Given the description of an element on the screen output the (x, y) to click on. 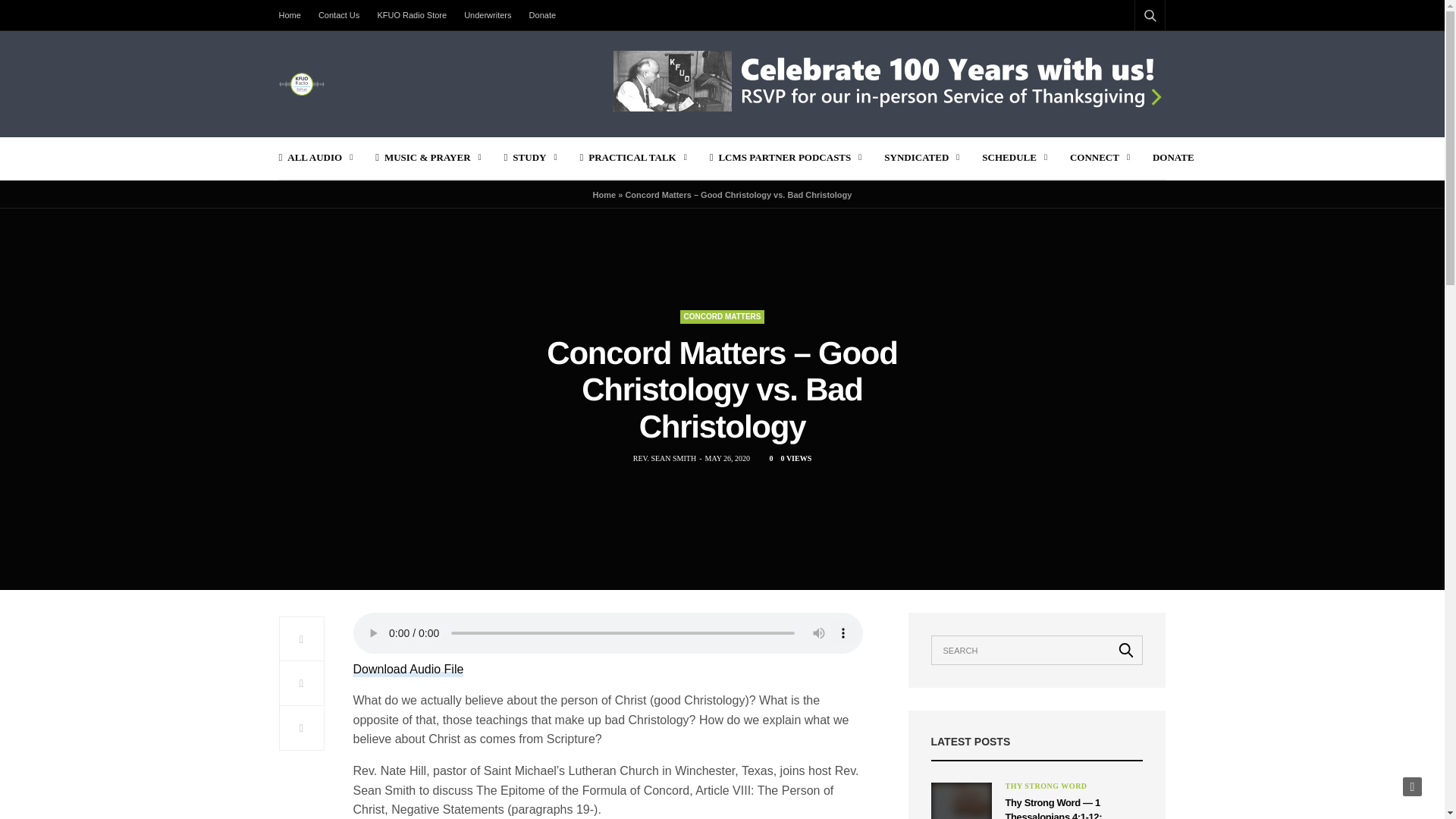
KFUO Radio Store (411, 15)
Search (1125, 649)
Home (293, 15)
Underwriters (487, 15)
Posts by Rev. Sean Smith (664, 458)
Contact Us (338, 15)
Donate (542, 15)
Concord Matters (720, 316)
Search (1129, 51)
ALL AUDIO (316, 157)
